Given the description of an element on the screen output the (x, y) to click on. 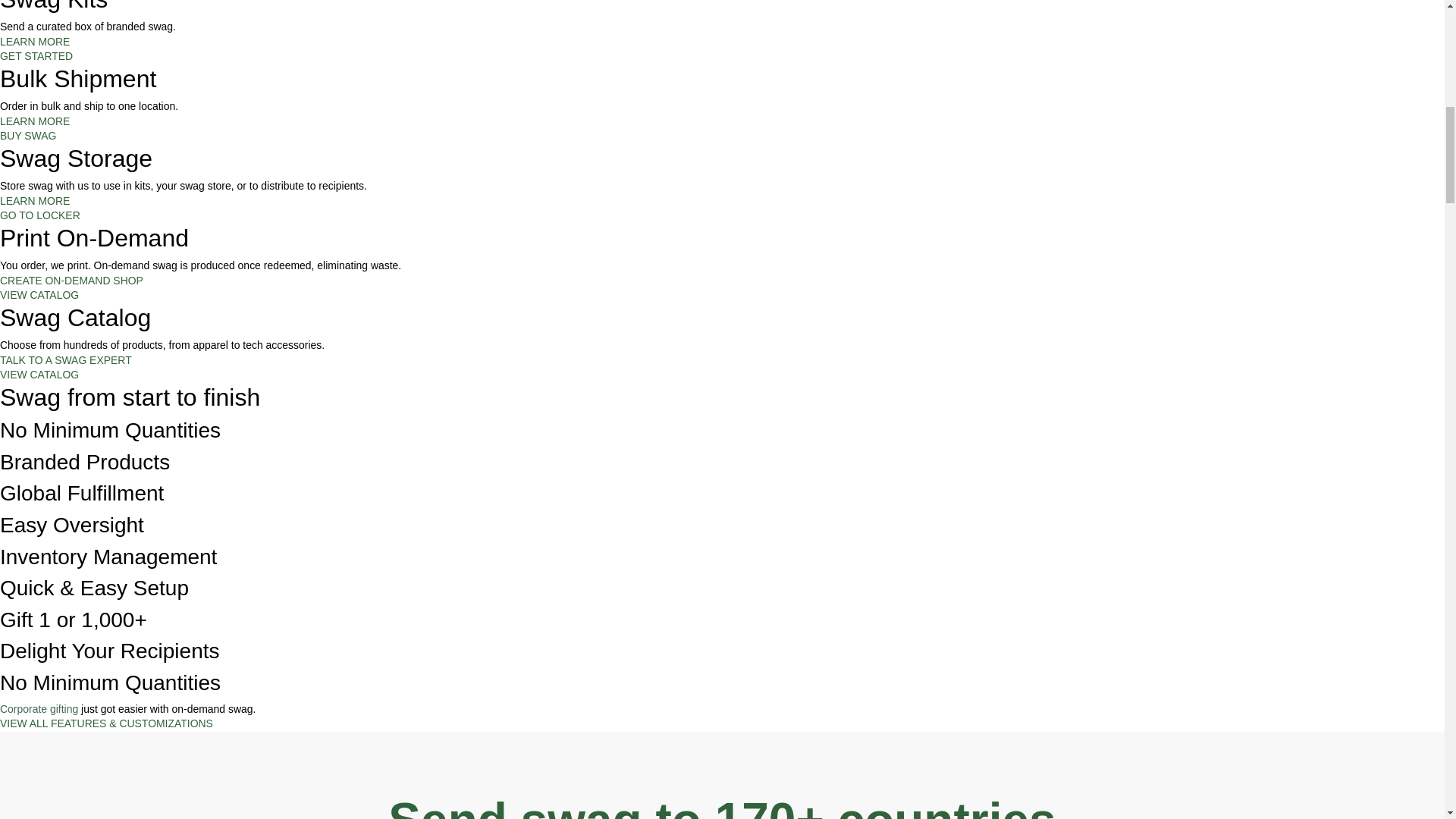
LEARN MORE (34, 41)
BUY SWAG (28, 135)
VIEW CATALOG (39, 374)
CREATE ON-DEMAND SHOP (71, 280)
LEARN MORE (34, 200)
GO TO LOCKER (40, 215)
TALK TO A SWAG EXPERT (66, 359)
GET STARTED (36, 55)
VIEW CATALOG (39, 295)
LEARN MORE (34, 121)
Corporate gifting (39, 707)
